Given the description of an element on the screen output the (x, y) to click on. 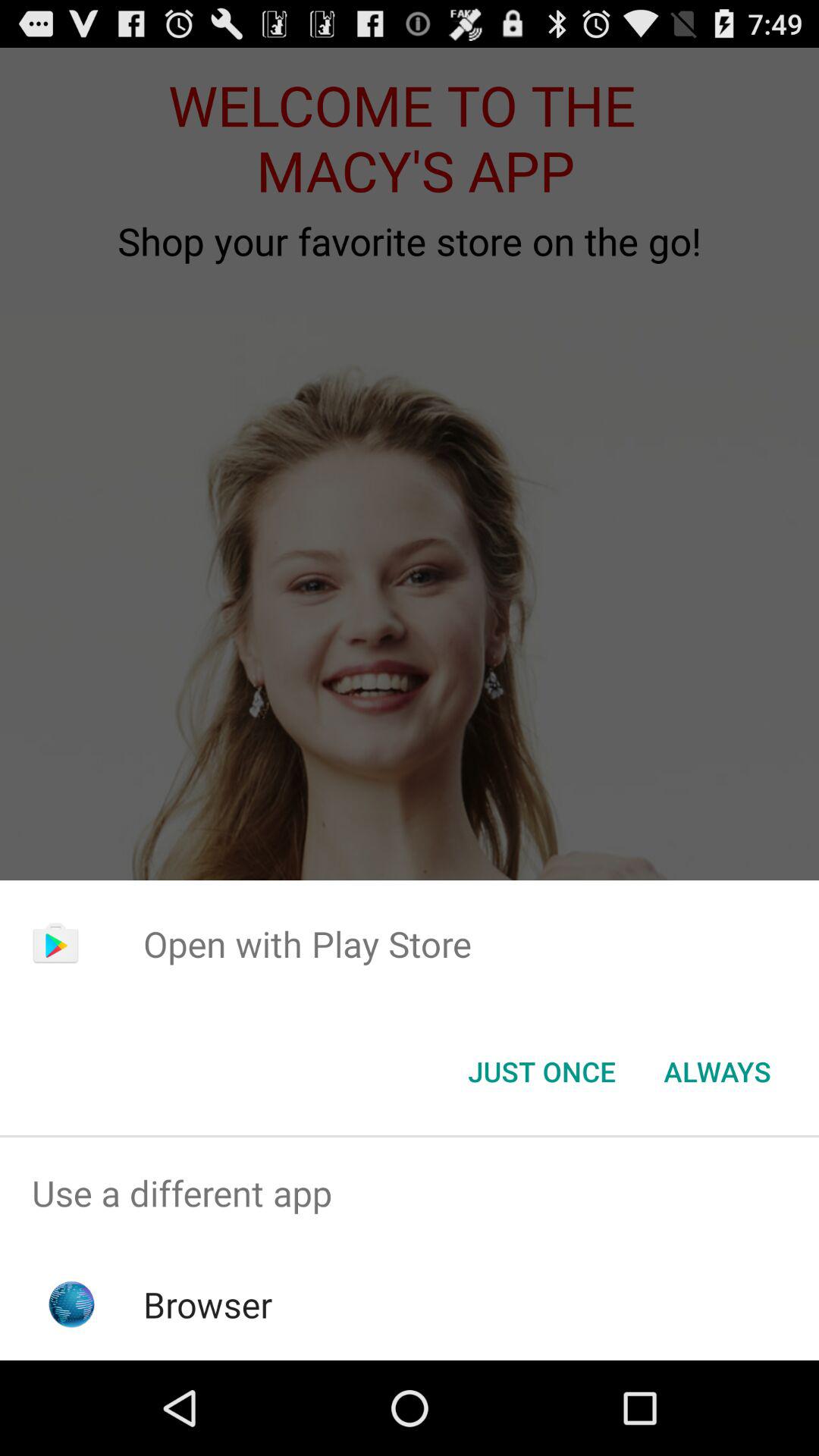
open the icon next to just once button (717, 1071)
